Given the description of an element on the screen output the (x, y) to click on. 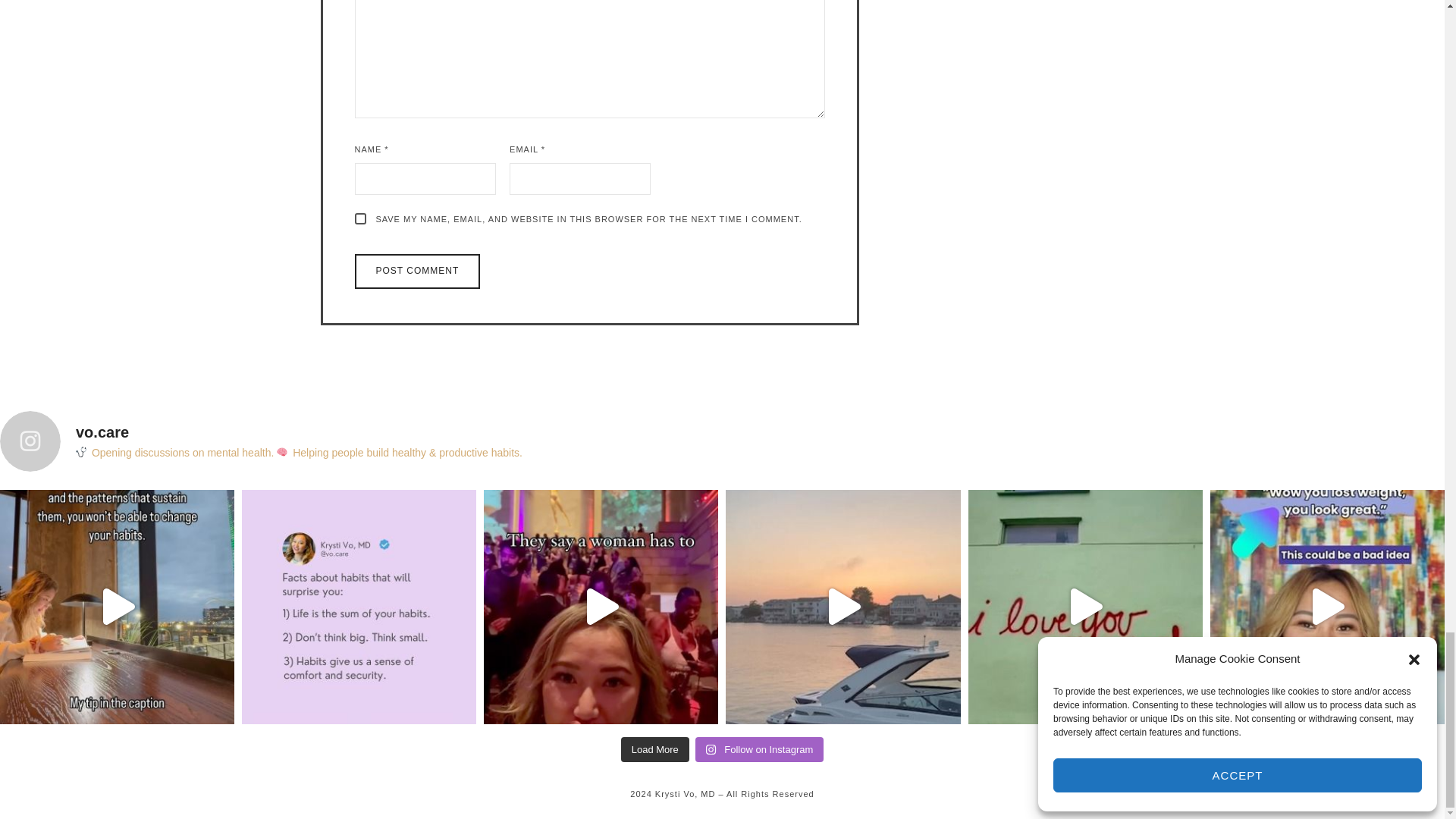
Post Comment (417, 271)
yes (360, 218)
